Given the description of an element on the screen output the (x, y) to click on. 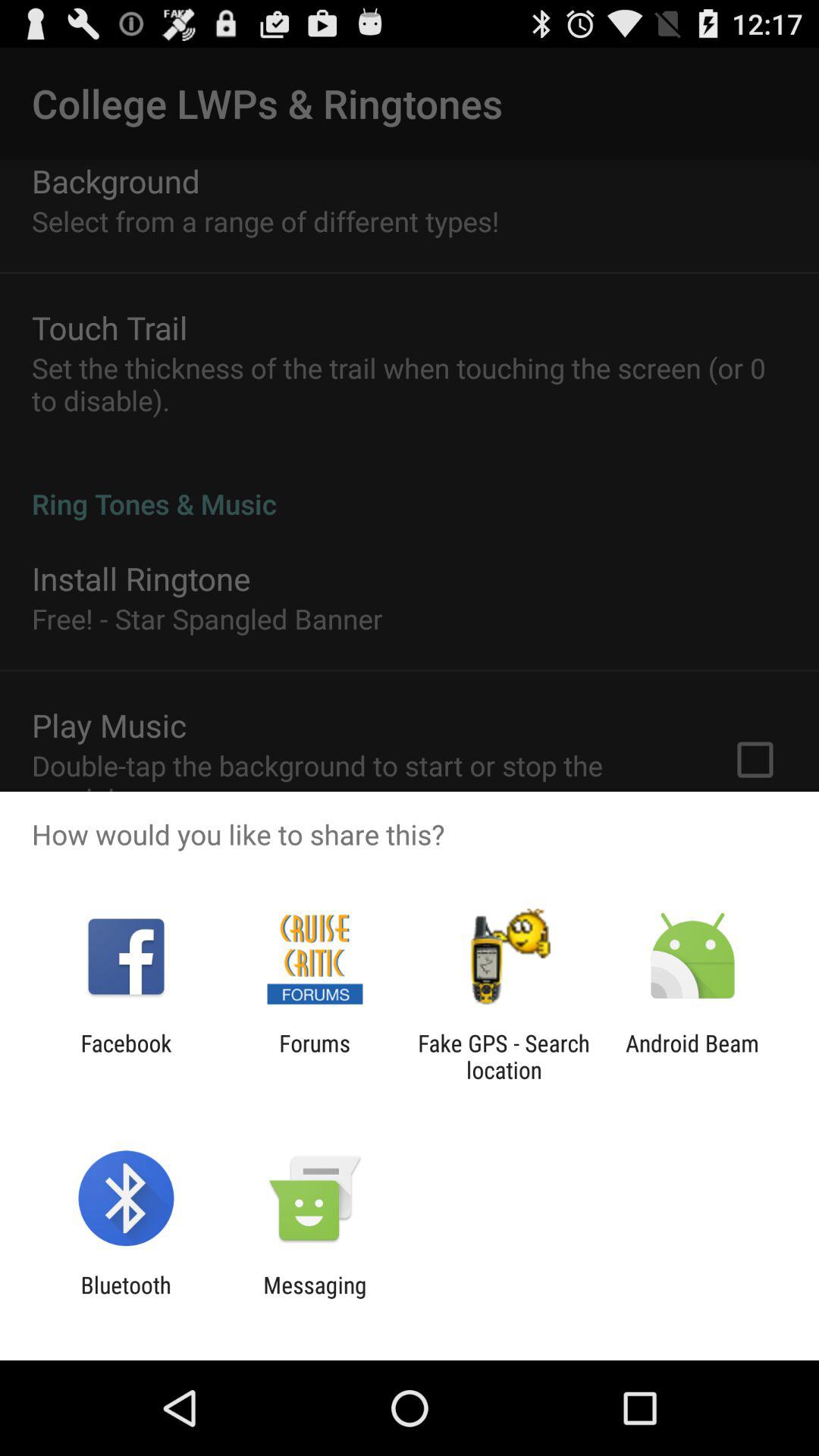
turn on icon to the left of the messaging (125, 1298)
